Given the description of an element on the screen output the (x, y) to click on. 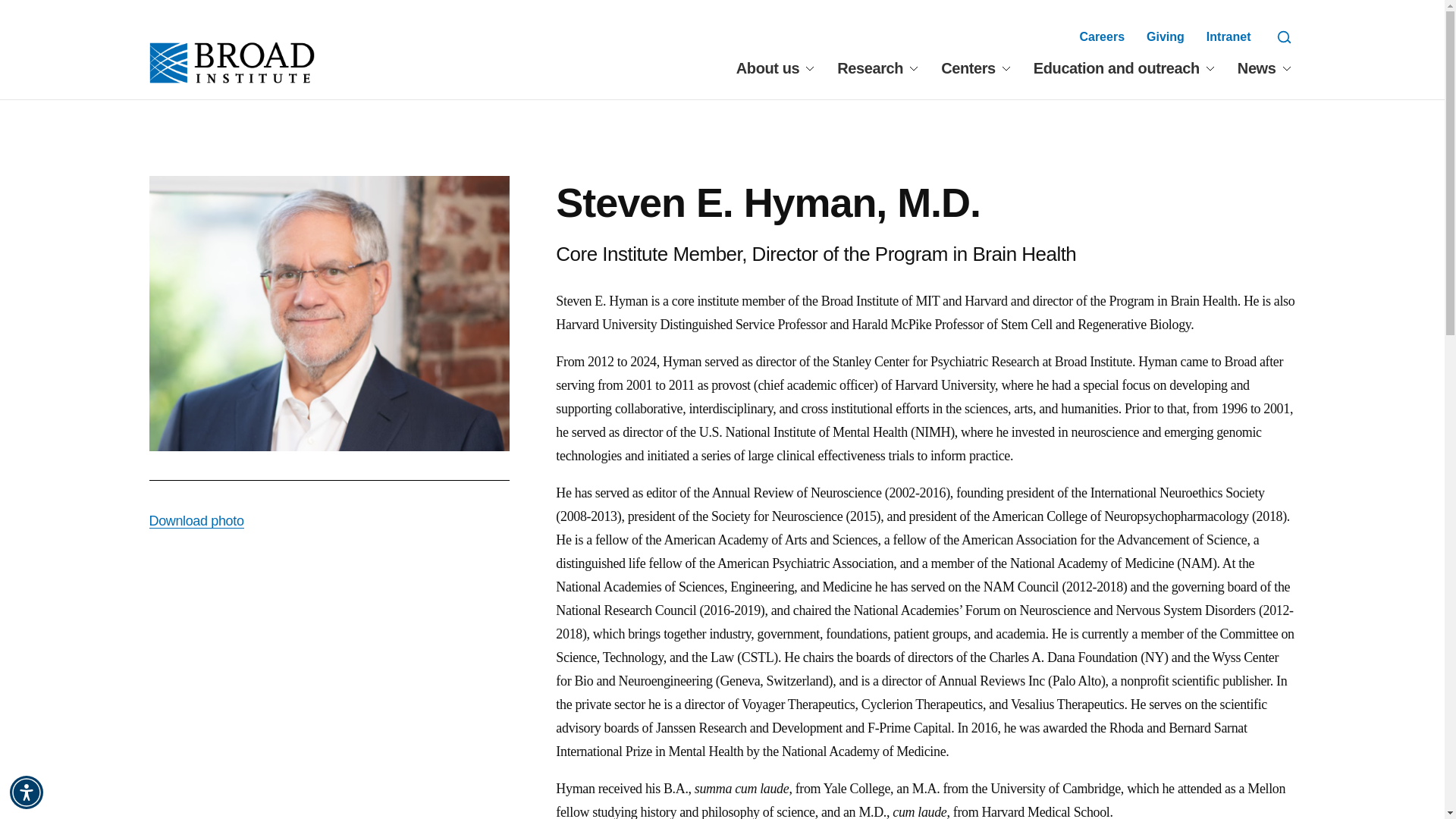
Intranet (1228, 36)
Broad Institute Intranet (1228, 36)
Giving (1166, 36)
Accessibility Menu (26, 792)
Careers (1101, 36)
